Given the description of an element on the screen output the (x, y) to click on. 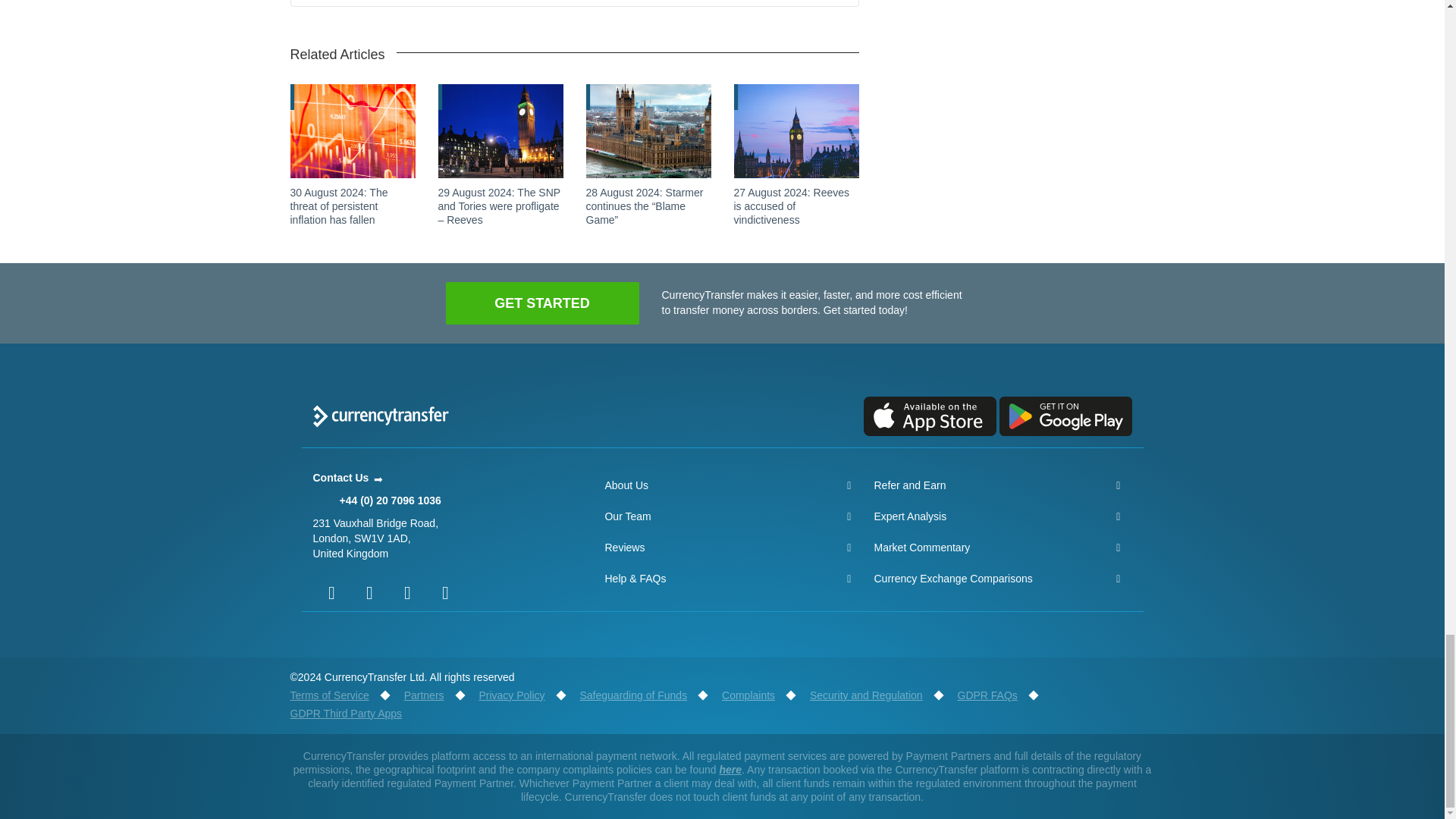
27 August 2024: Reeves is accused of vindictiveness (791, 206)
